Given the description of an element on the screen output the (x, y) to click on. 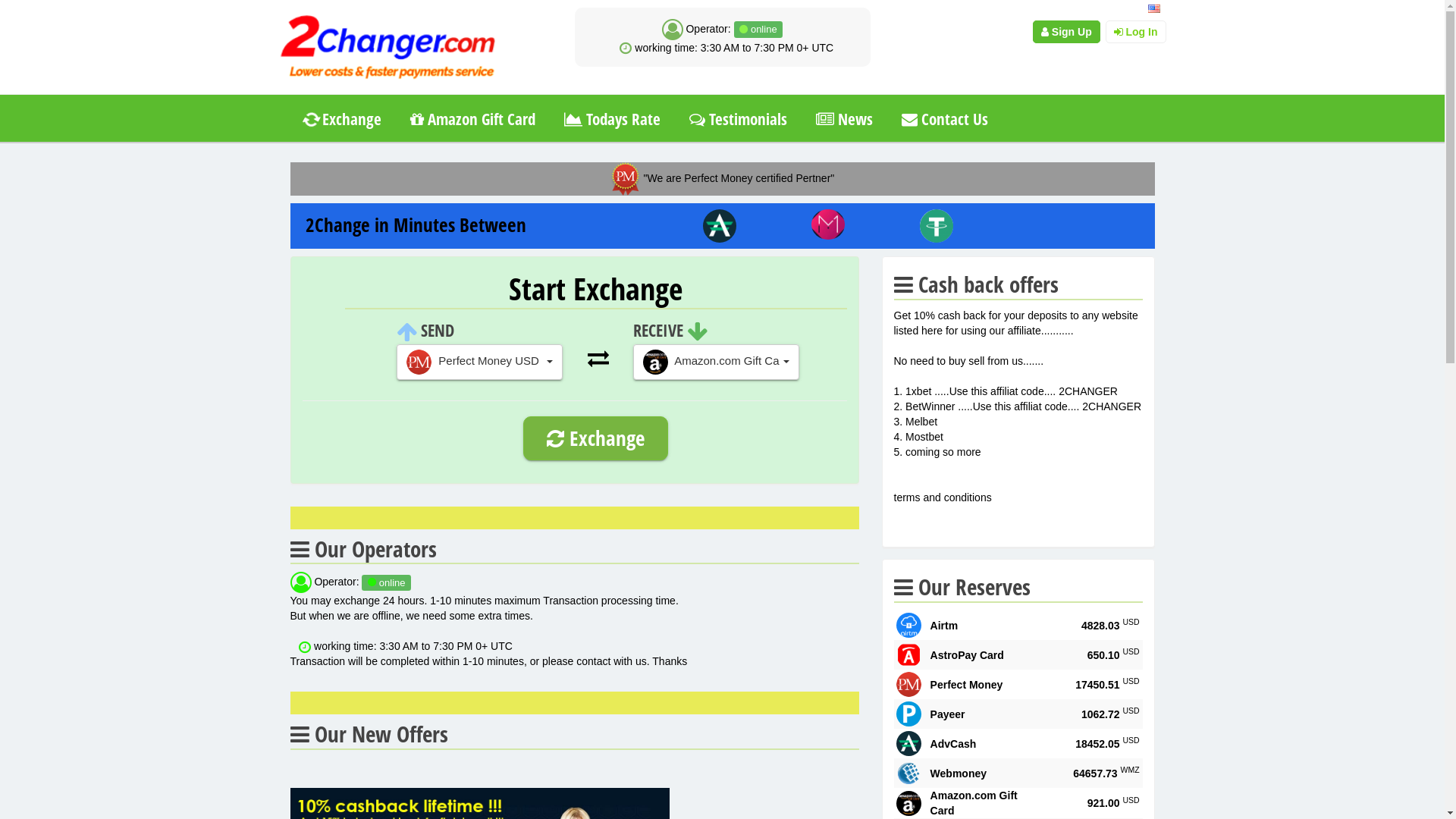
Sign Up Element type: text (1066, 31)
Log In Element type: text (1135, 31)
Testimonials Element type: text (737, 119)
Amazon Gift Card Element type: text (472, 119)
Amazon.com Gift Card USD
  Element type: text (716, 361)
Perfect Money USD
  Element type: text (479, 361)
News Element type: text (843, 119)
Todays Rate Element type: text (611, 119)
Contact Us Element type: text (944, 119)
Exchange Element type: text (342, 119)
Exchange Element type: text (595, 438)
